Given the description of an element on the screen output the (x, y) to click on. 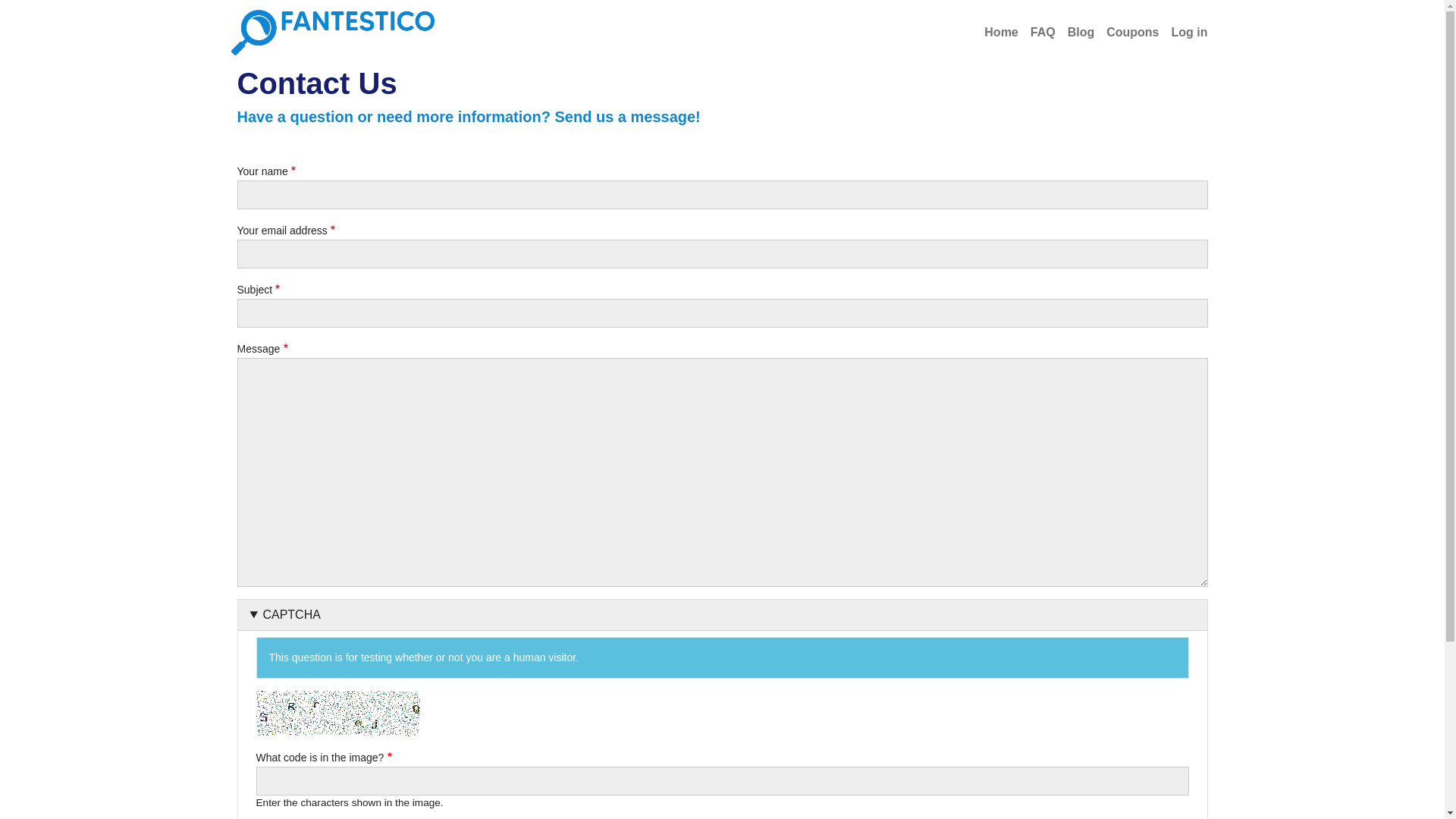
Image CAPTCHA (338, 713)
Log in (1190, 32)
FAQ (1043, 32)
Blog (1080, 32)
Skip to main content (60, 10)
Home (338, 32)
Home (1000, 32)
Coupons (1132, 32)
Frequently Asked Questions (1043, 32)
